Given the description of an element on the screen output the (x, y) to click on. 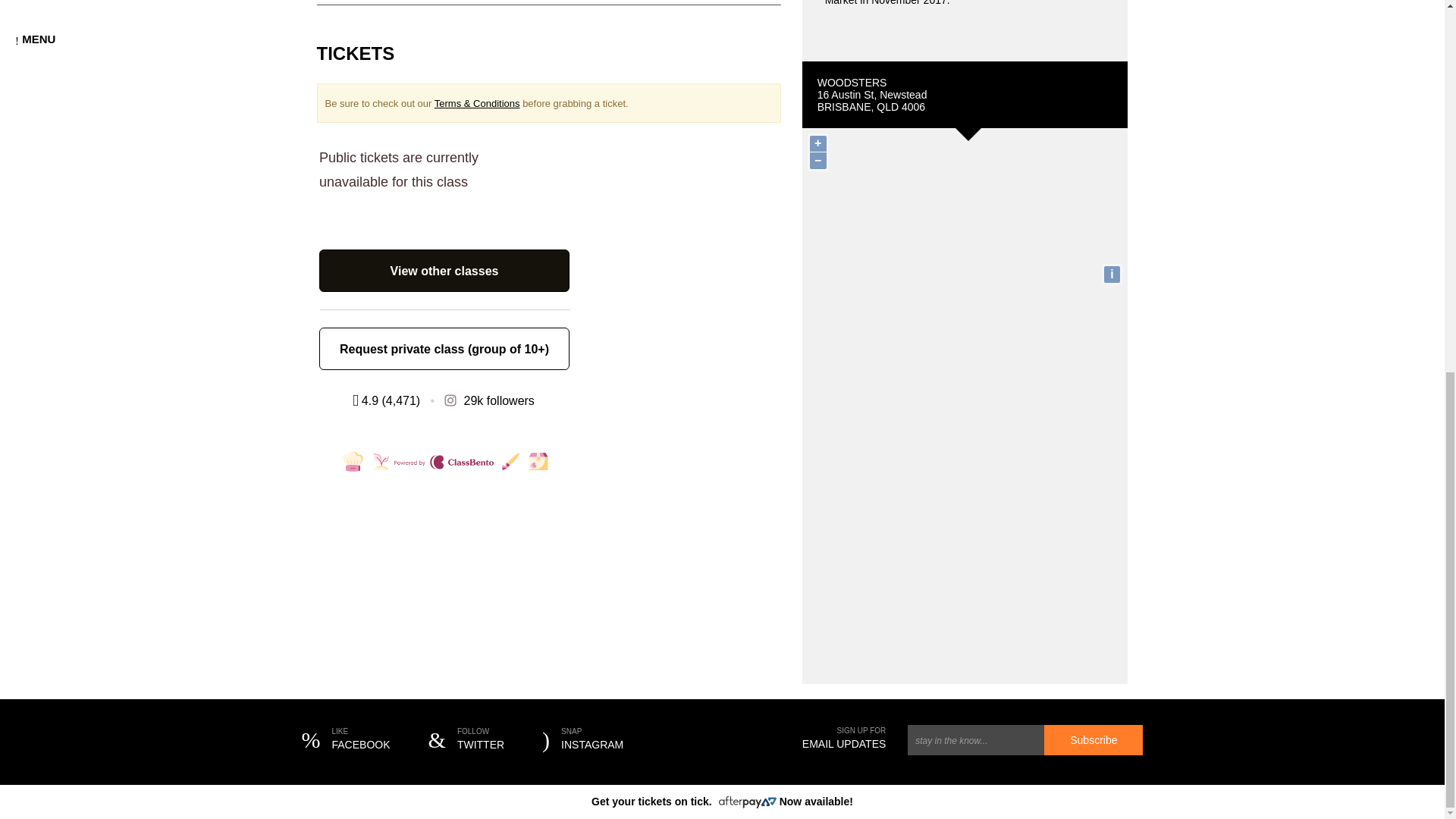
Zoom out (818, 160)
Subscribe (466, 740)
Zoom in (1092, 739)
Attributions (818, 143)
Subscribe (1112, 274)
i (1092, 739)
Scott Lyttle (1112, 274)
